Given the description of an element on the screen output the (x, y) to click on. 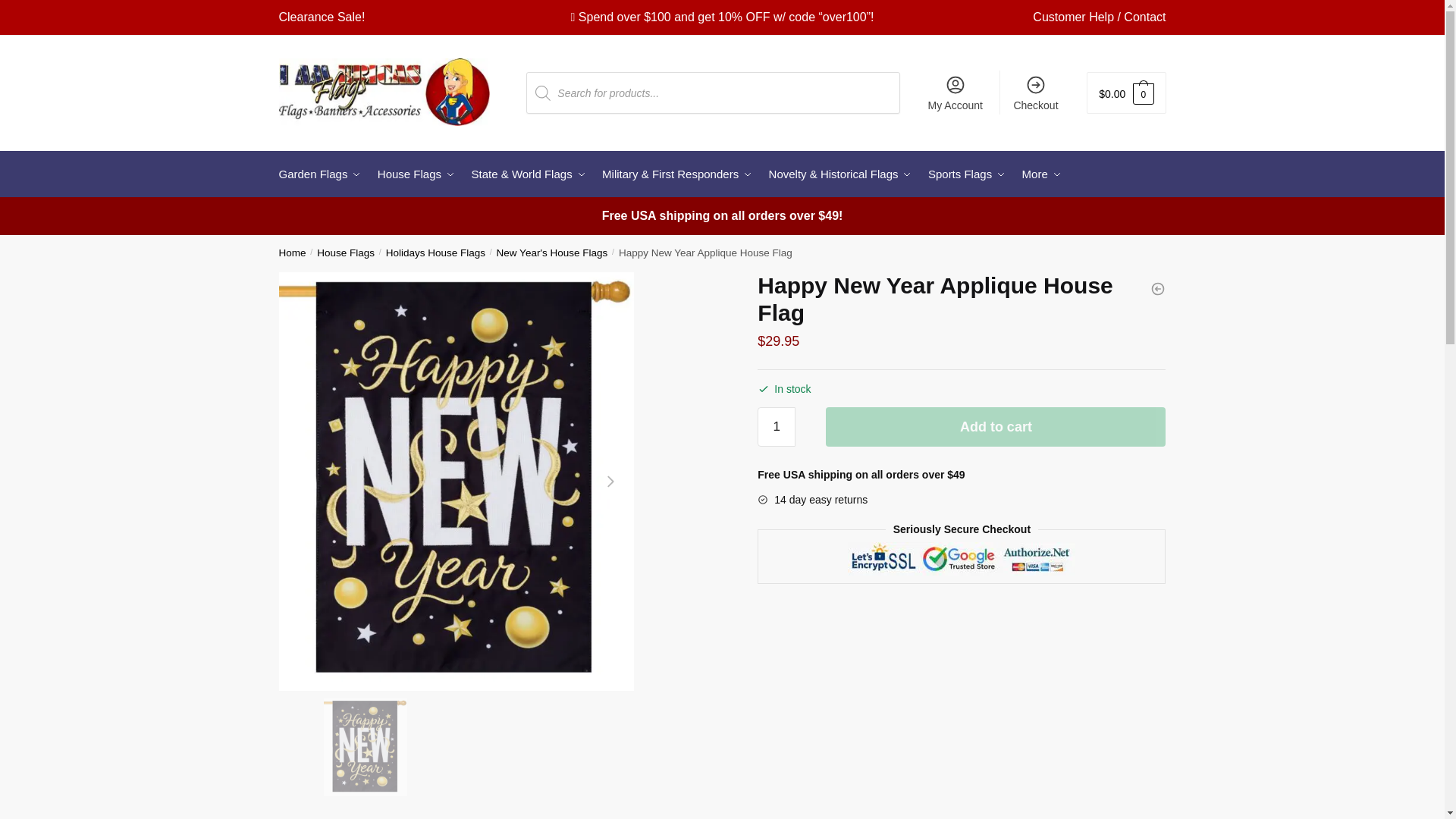
View your shopping cart (1126, 92)
1 (775, 426)
My Account (954, 92)
Clearance Sale! (322, 16)
Garden Flags (323, 174)
Checkout (1035, 92)
